Given the description of an element on the screen output the (x, y) to click on. 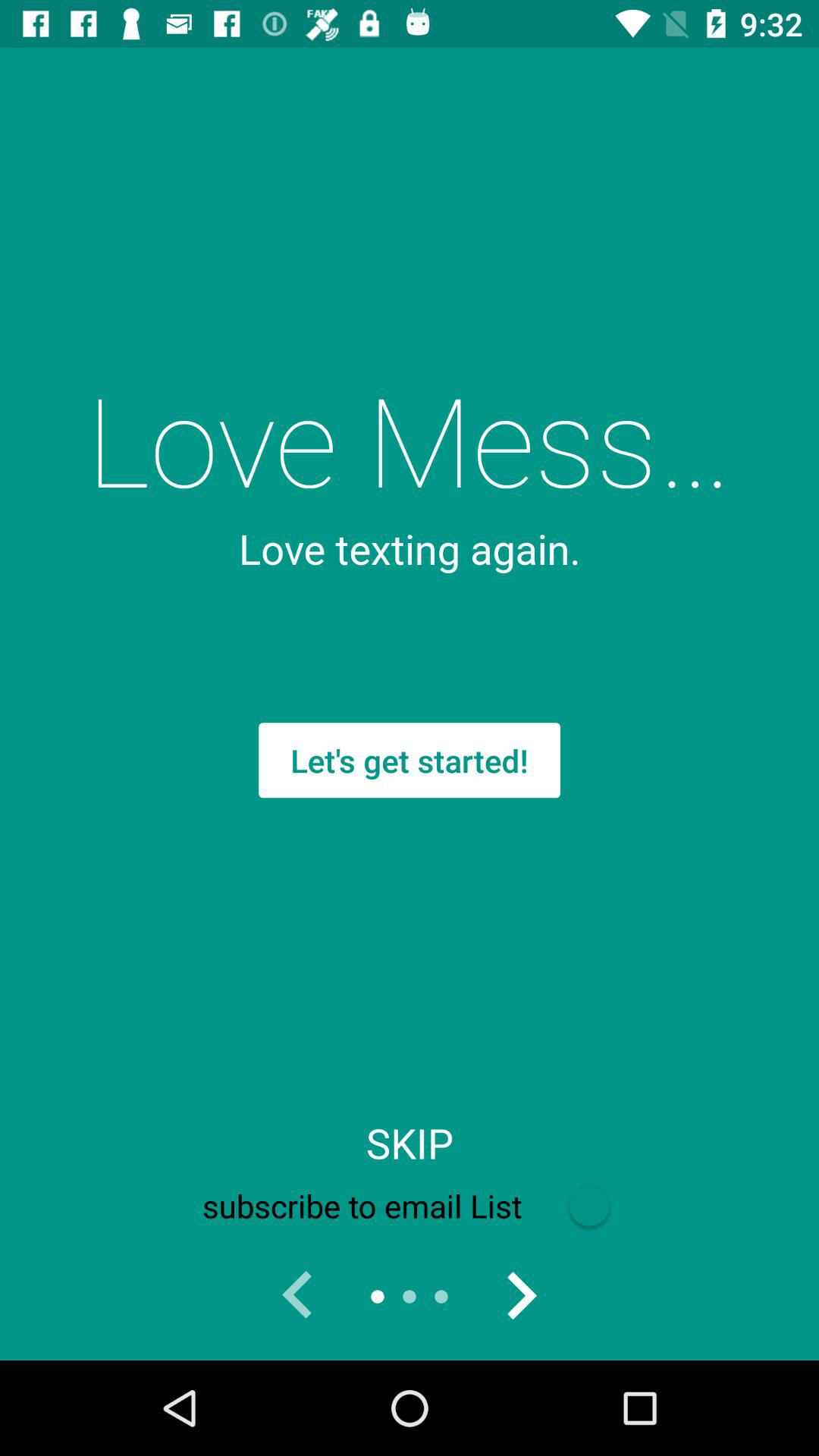
open icon above the skip icon (409, 759)
